Given the description of an element on the screen output the (x, y) to click on. 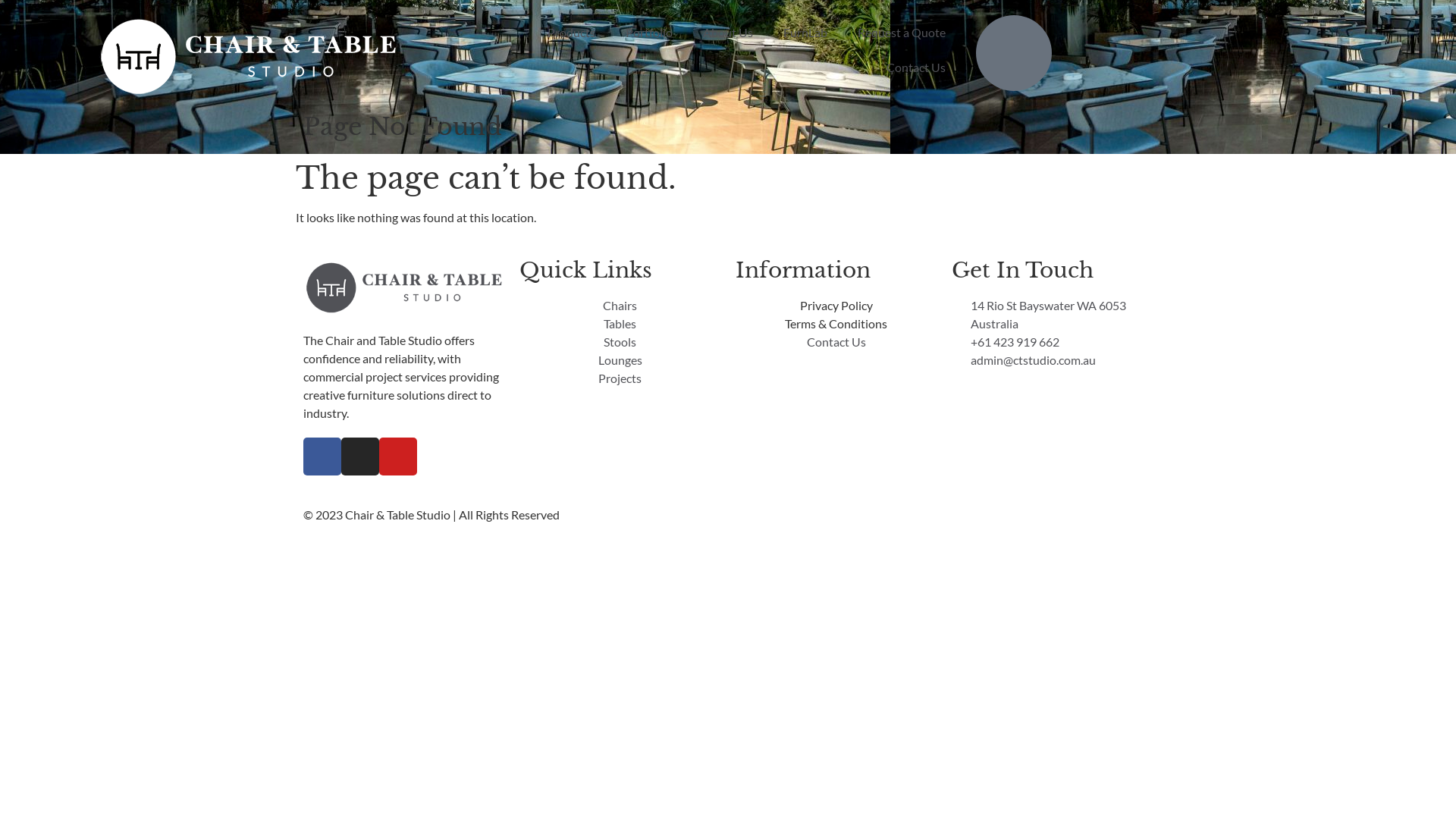
FurnLab Element type: text (805, 32)
Lounges Element type: text (619, 360)
14 Rio St Bayswater WA 6053 Australia Element type: text (1051, 314)
admin@ctstudio.com.au Element type: text (1051, 360)
Stools Element type: text (619, 341)
Tables Element type: text (619, 323)
Products Element type: text (571, 32)
About Us Element type: text (727, 32)
Contact Us Element type: text (915, 67)
Projects Element type: text (619, 378)
Contact Us Element type: text (835, 341)
Chairs Element type: text (619, 305)
Portfolio Element type: text (648, 32)
Request a Quote Element type: text (901, 32)
+61 423 919 662 Element type: text (1051, 341)
